Given the description of an element on the screen output the (x, y) to click on. 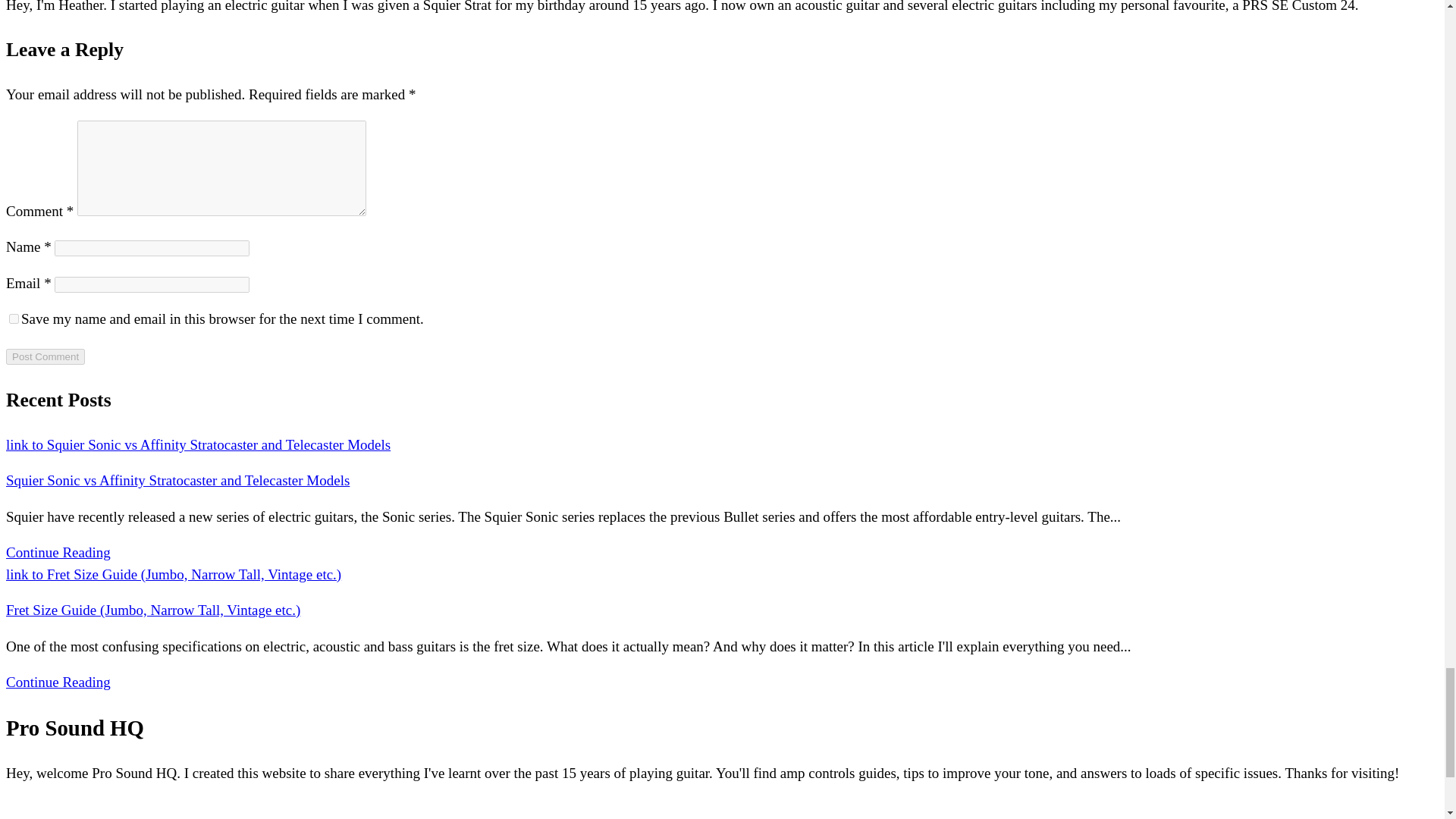
yes (13, 318)
Post Comment (44, 356)
